Given the description of an element on the screen output the (x, y) to click on. 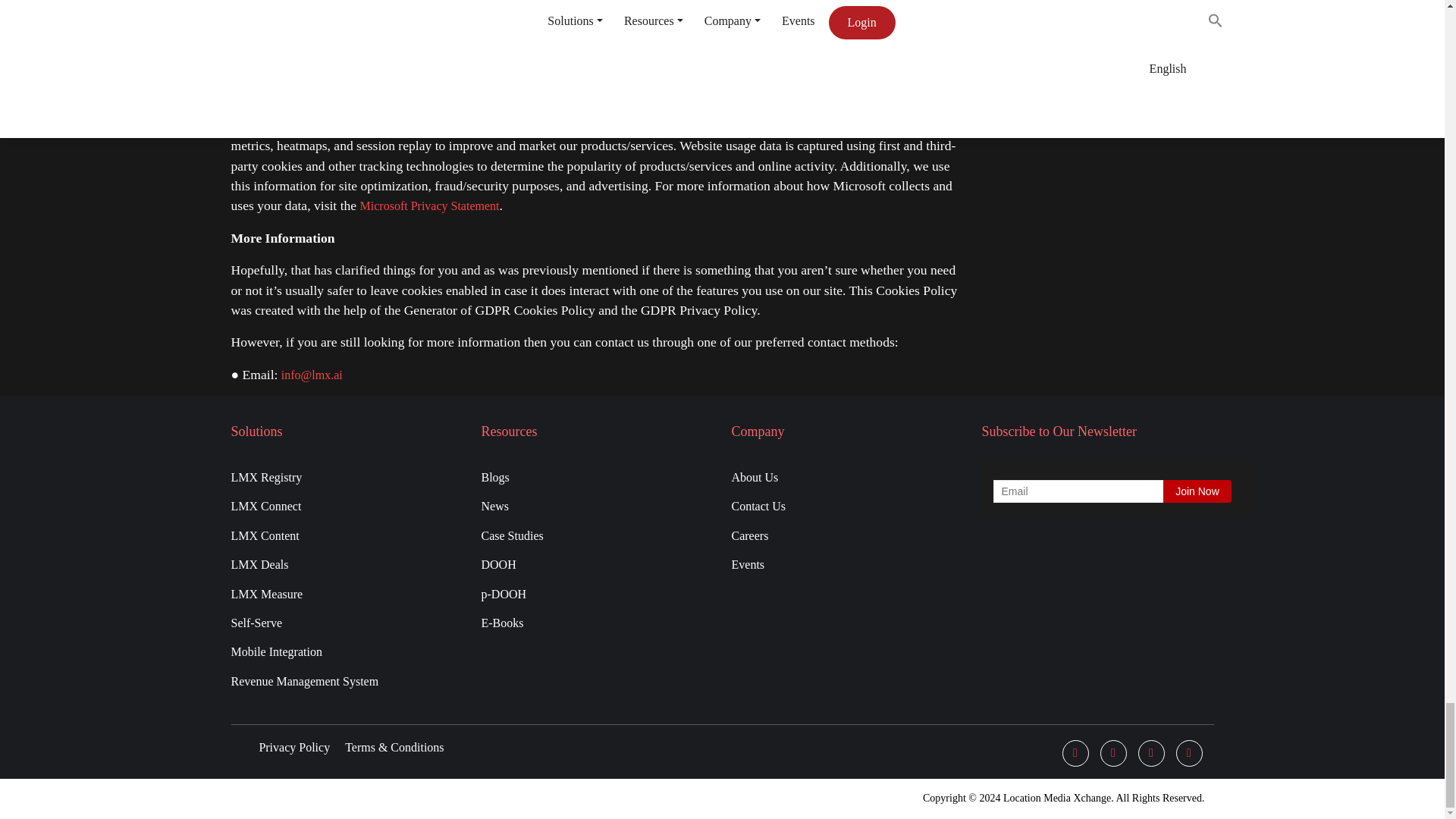
LMX Registry (346, 475)
LMX Content (346, 533)
Join Now (1197, 490)
Microsoft Privacy Statement (429, 205)
LMX Connect (346, 503)
